Given the description of an element on the screen output the (x, y) to click on. 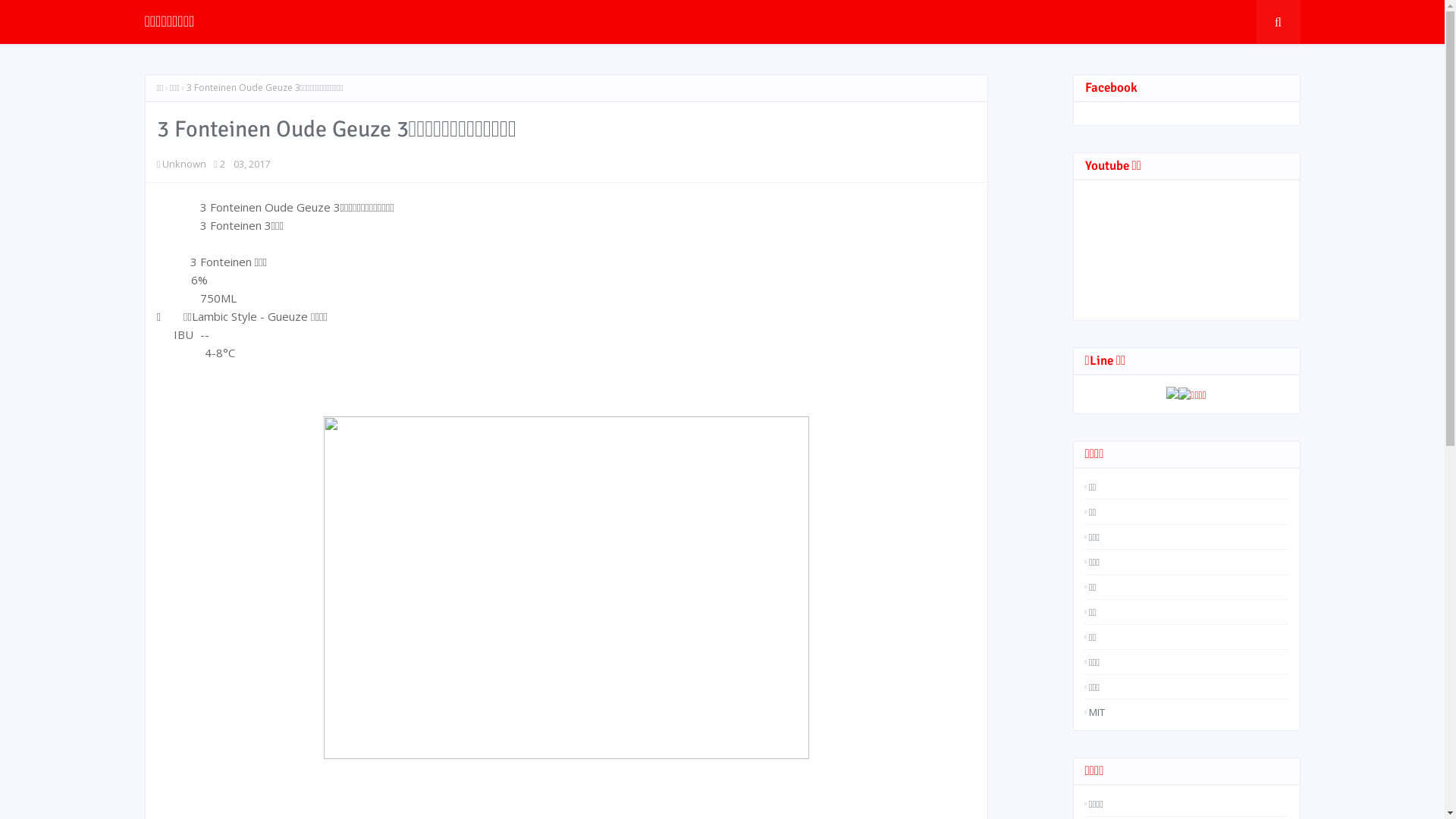
MIT Element type: text (1185, 711)
Unknown Element type: text (184, 163)
